Given the description of an element on the screen output the (x, y) to click on. 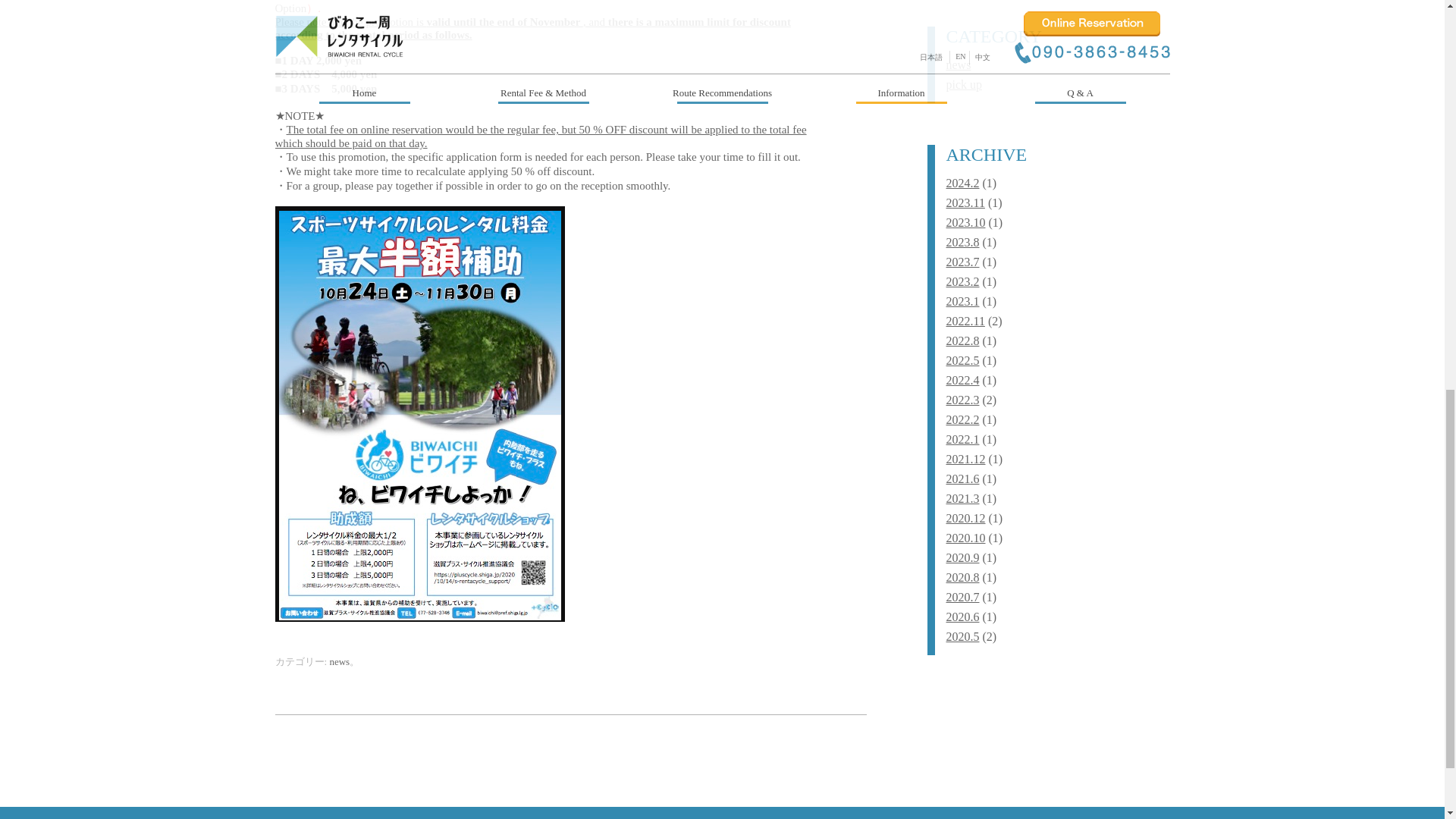
2023.11 (965, 202)
2022.11 (965, 320)
2022.8 (962, 340)
2023.1 (962, 300)
2023.2 (962, 281)
2024.2 (962, 182)
news (958, 64)
2022.5 (962, 359)
2023.8 (962, 241)
pick up (964, 83)
